Given the description of an element on the screen output the (x, y) to click on. 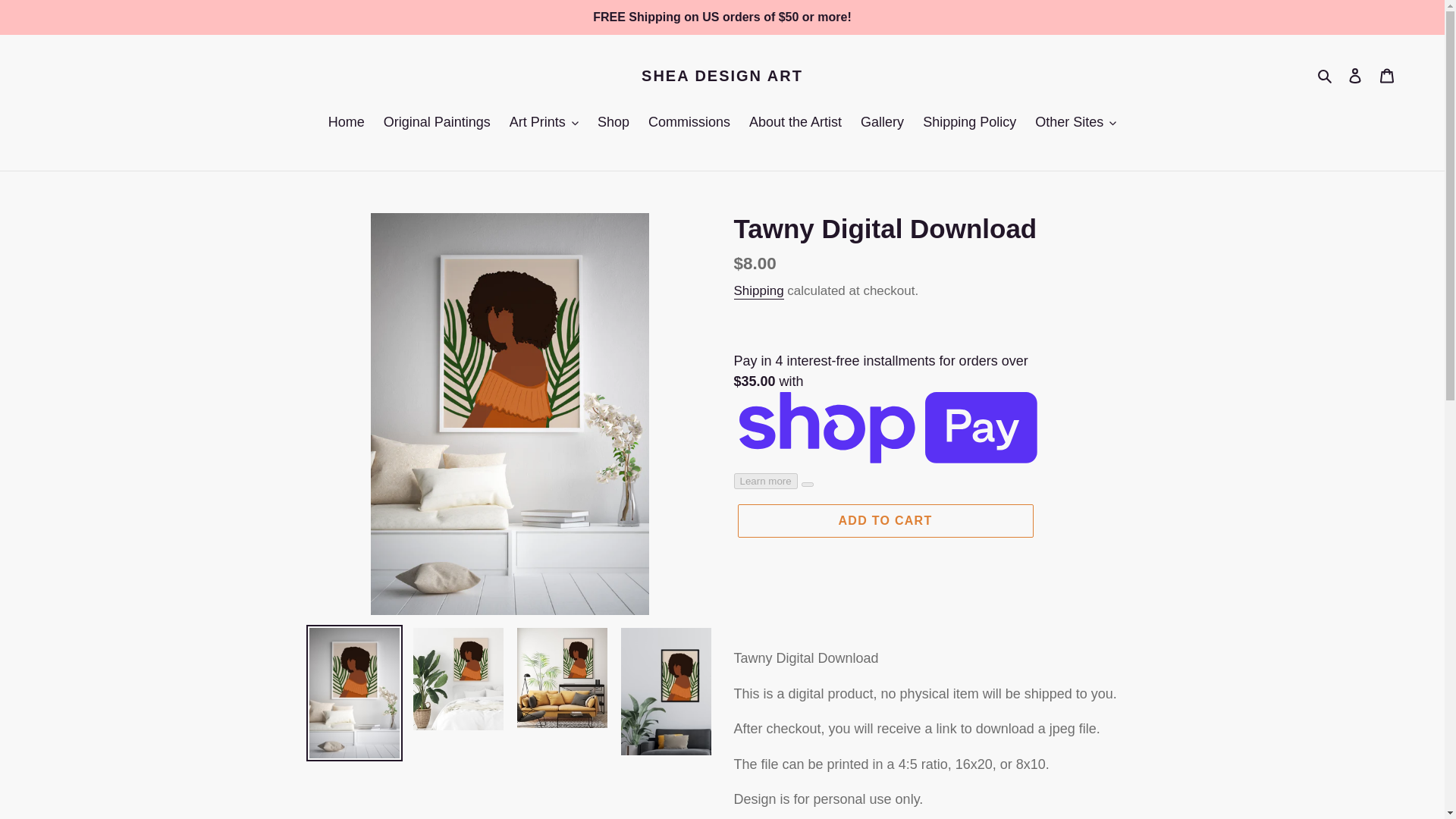
Home (346, 123)
Gallery (882, 123)
Cart (1387, 75)
Shop (613, 123)
Search (1326, 75)
SHEA DESIGN ART (722, 75)
Commissions (689, 123)
Art Prints (544, 123)
Original Paintings (436, 123)
Log in (1355, 75)
